Given the description of an element on the screen output the (x, y) to click on. 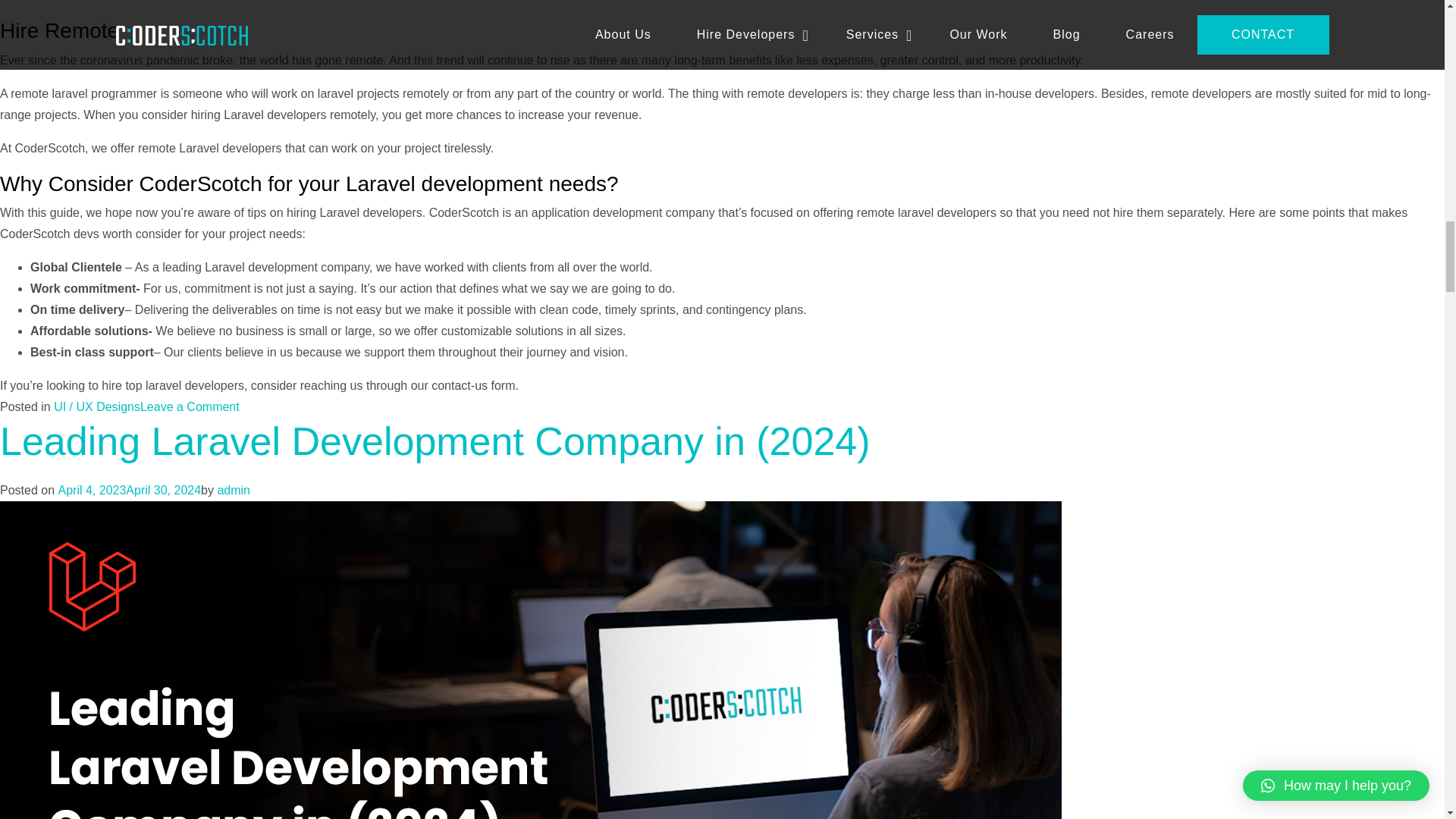
April 4, 2023April 30, 2024 (129, 490)
admin (233, 490)
